Given the description of an element on the screen output the (x, y) to click on. 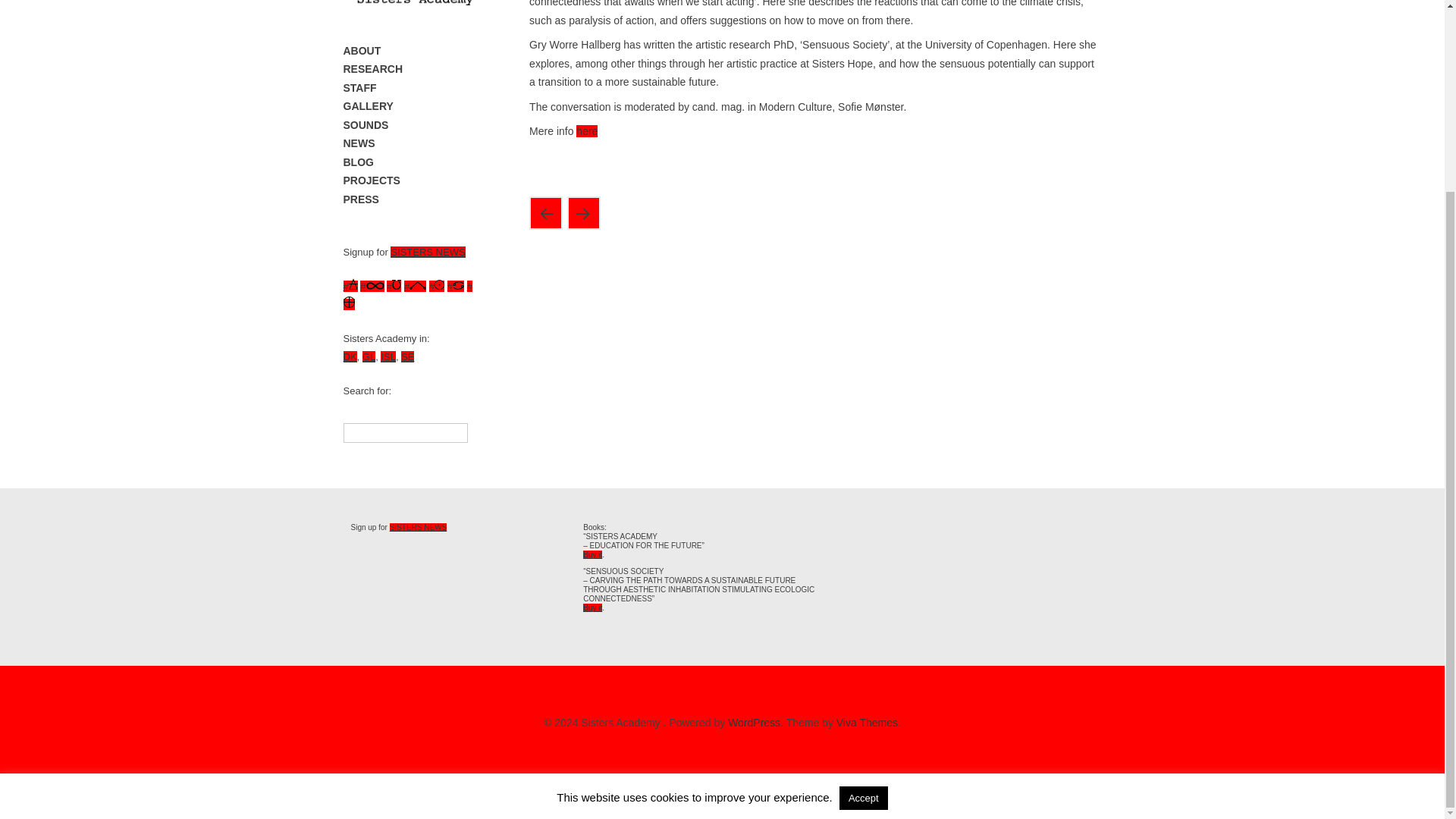
GL (368, 356)
STAFF (410, 87)
Viva Themes (866, 722)
Buy it (592, 554)
SISTERS NEWS (427, 251)
here (586, 131)
SE (407, 356)
RESEARCH (410, 68)
Buy it (592, 607)
DK (349, 356)
